Given the description of an element on the screen output the (x, y) to click on. 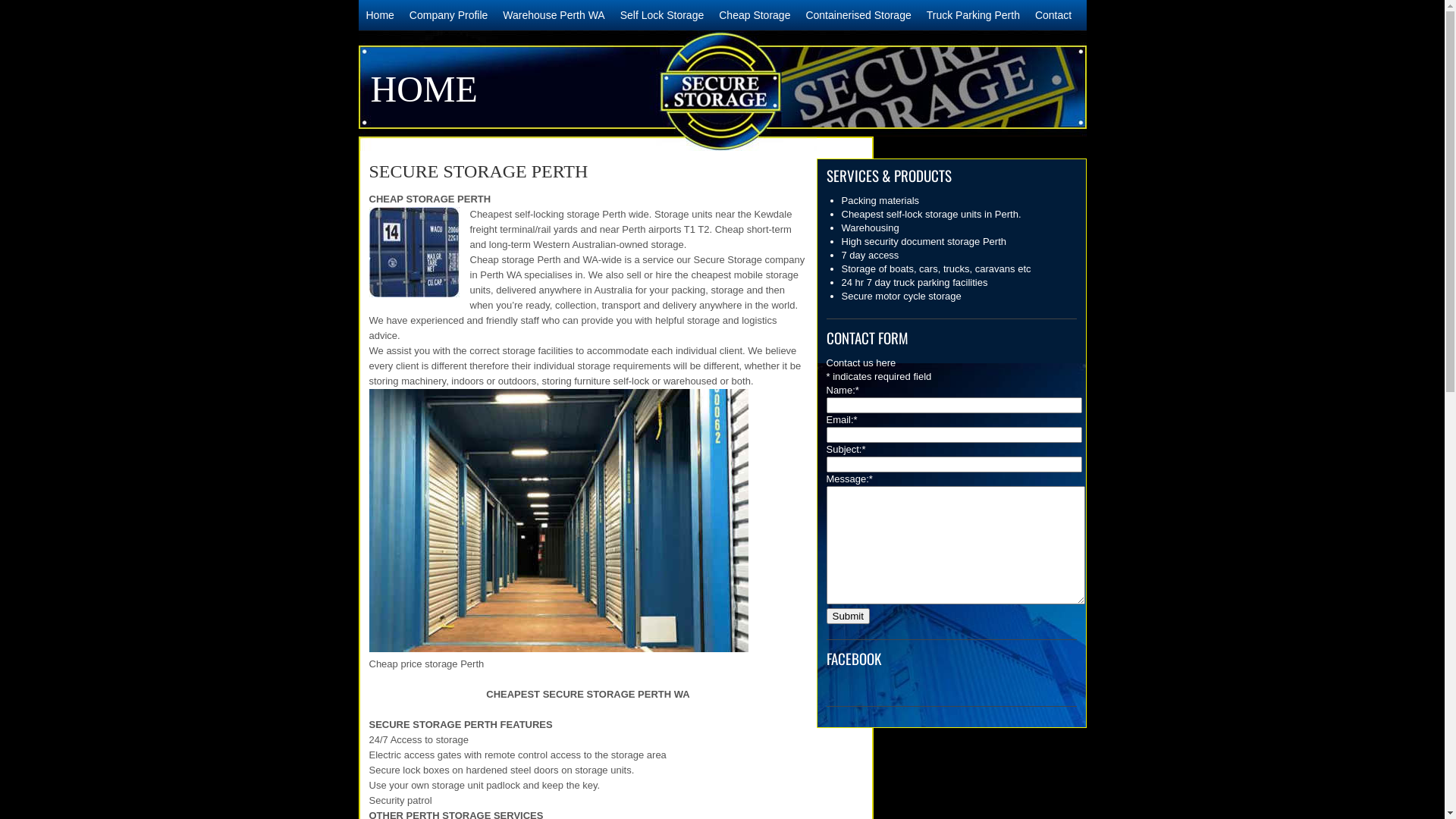
Home Element type: text (379, 15)
Warehouse Perth WA Element type: text (553, 15)
Truck Parking Perth Element type: text (973, 15)
Company Profile Element type: text (448, 15)
Contact Element type: text (1053, 15)
Cheap Storage Element type: text (754, 15)
Containerised Storage Element type: text (857, 15)
Self Lock Storage Element type: text (662, 15)
Submit Element type: text (847, 616)
